Given the description of an element on the screen output the (x, y) to click on. 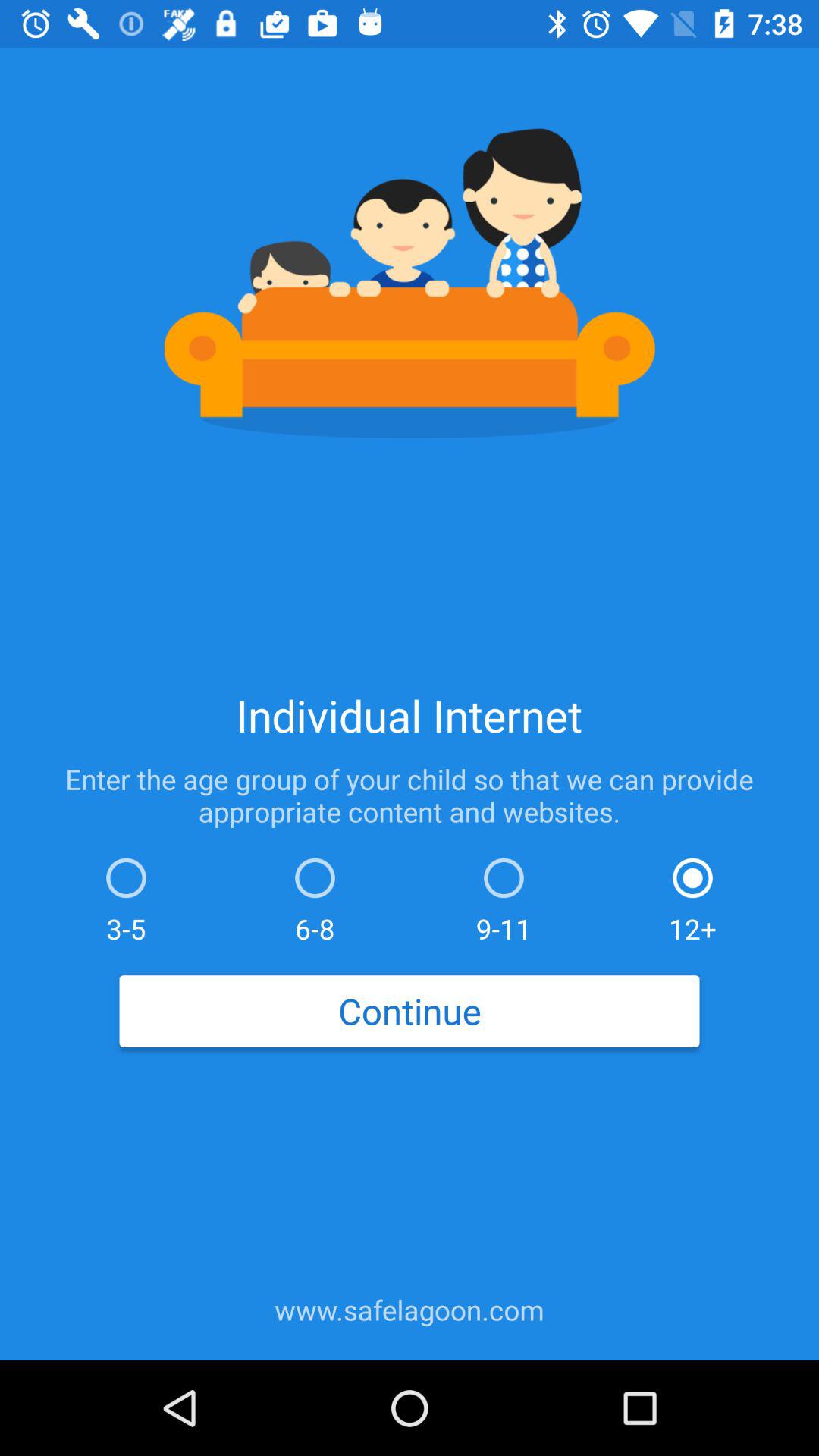
press item to the left of the 6-8 icon (125, 896)
